Given the description of an element on the screen output the (x, y) to click on. 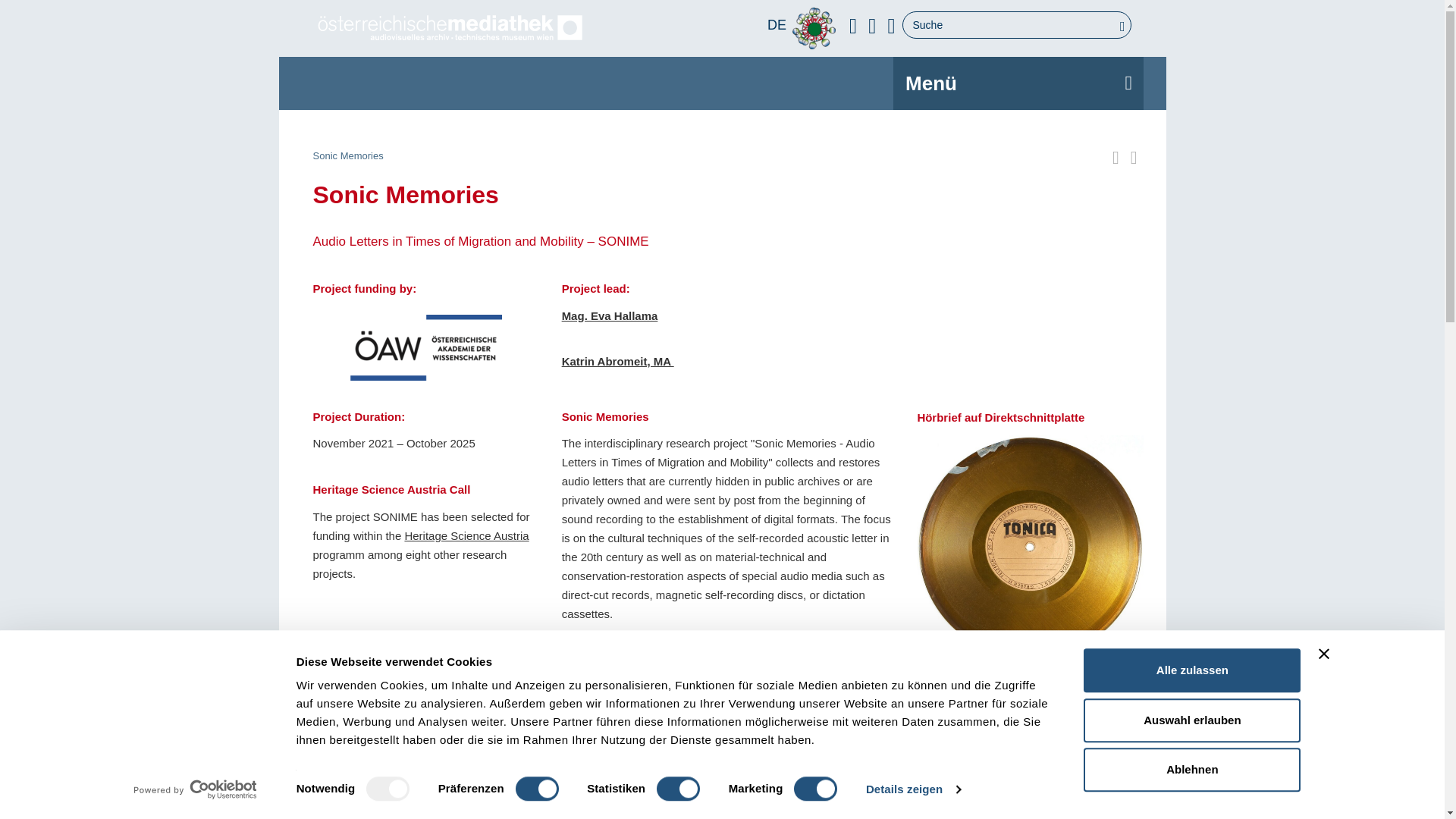
Details zeigen (913, 789)
DE (776, 25)
Auswahl erlauben (1191, 720)
Ablehnen (1191, 769)
Alle zulassen (1191, 670)
